Given the description of an element on the screen output the (x, y) to click on. 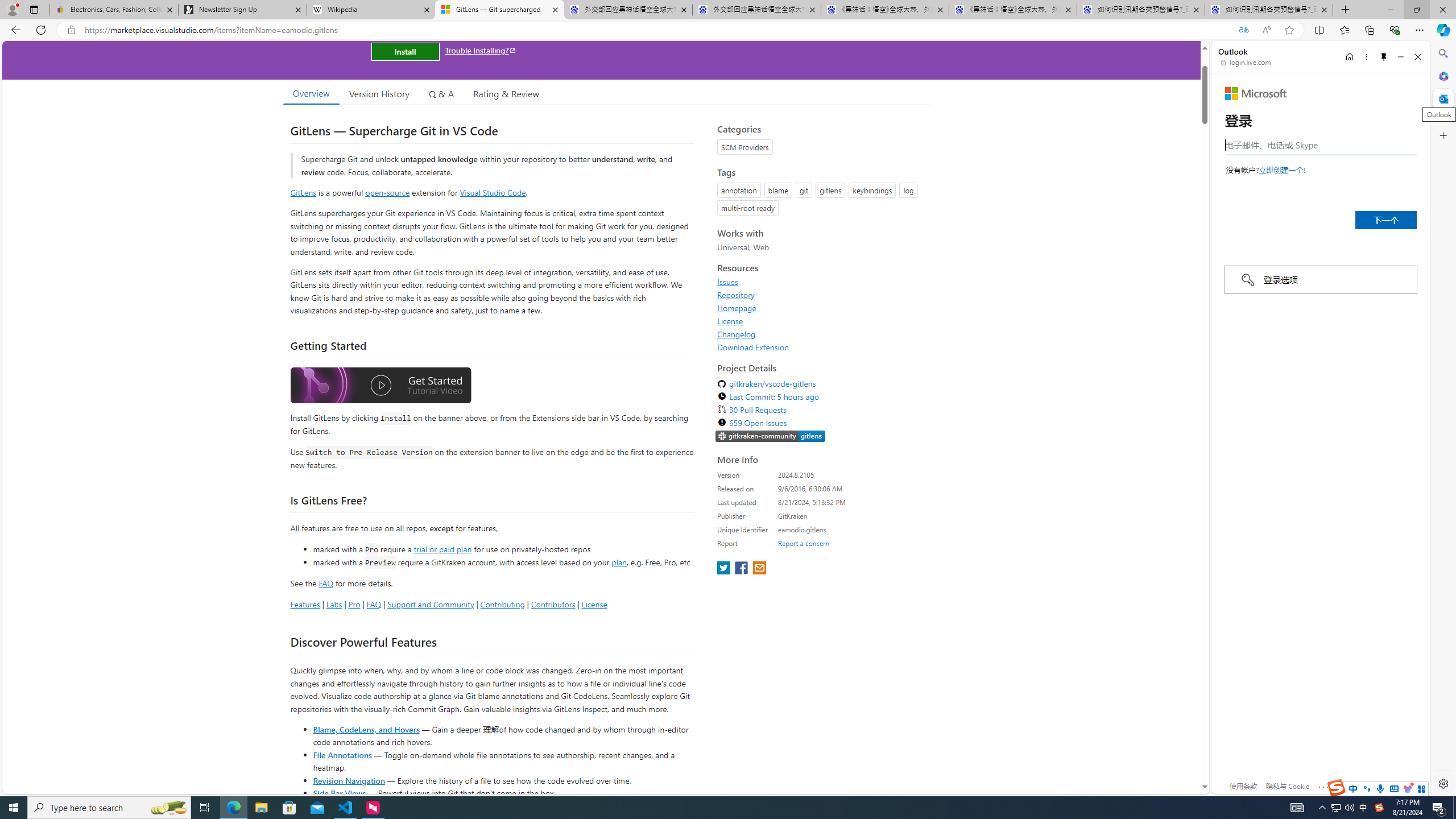
plan (618, 562)
Watch the GitLens Getting Started video (380, 387)
Q & A (441, 92)
Rating & Review (505, 92)
